Given the description of an element on the screen output the (x, y) to click on. 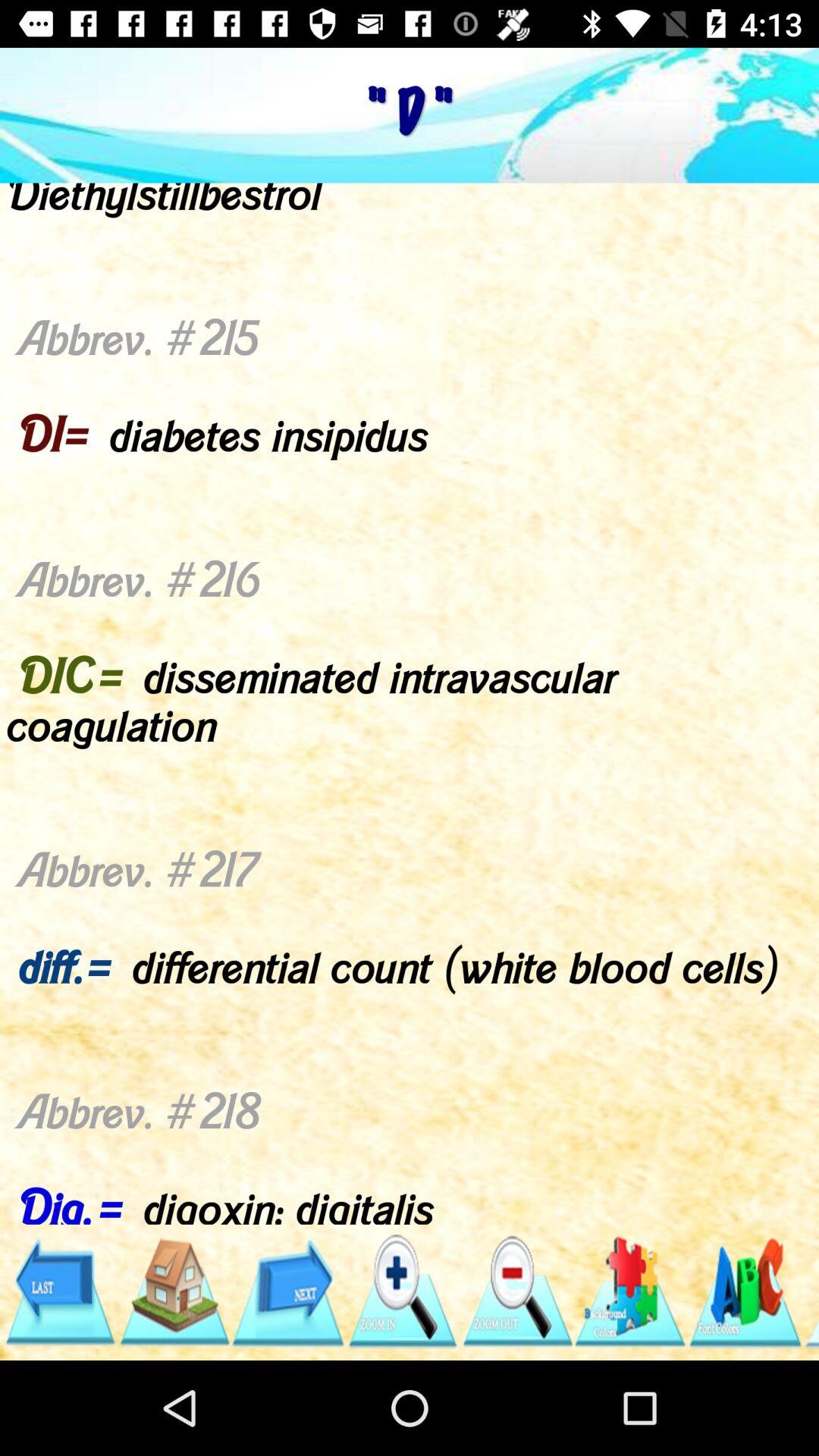
choose icon below the abbrev 	209	 	d item (59, 1291)
